Given the description of an element on the screen output the (x, y) to click on. 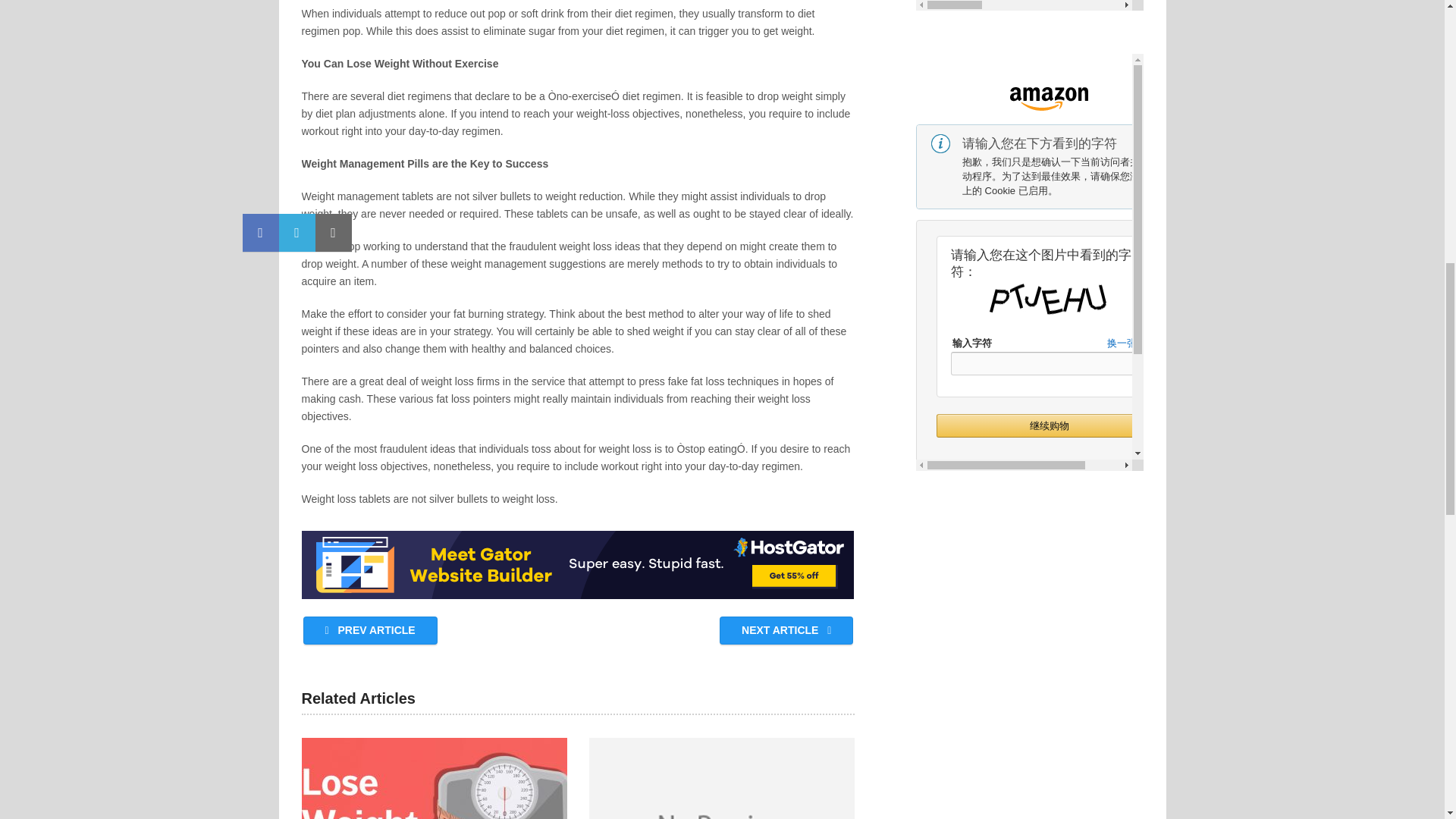
Healthy Weight Loss Tips For You And Those You Love (721, 778)
PREV ARTICLE (370, 630)
Tips To Arm You In The War Against Weight Loss (434, 778)
NEXT ARTICLE (786, 630)
